Given the description of an element on the screen output the (x, y) to click on. 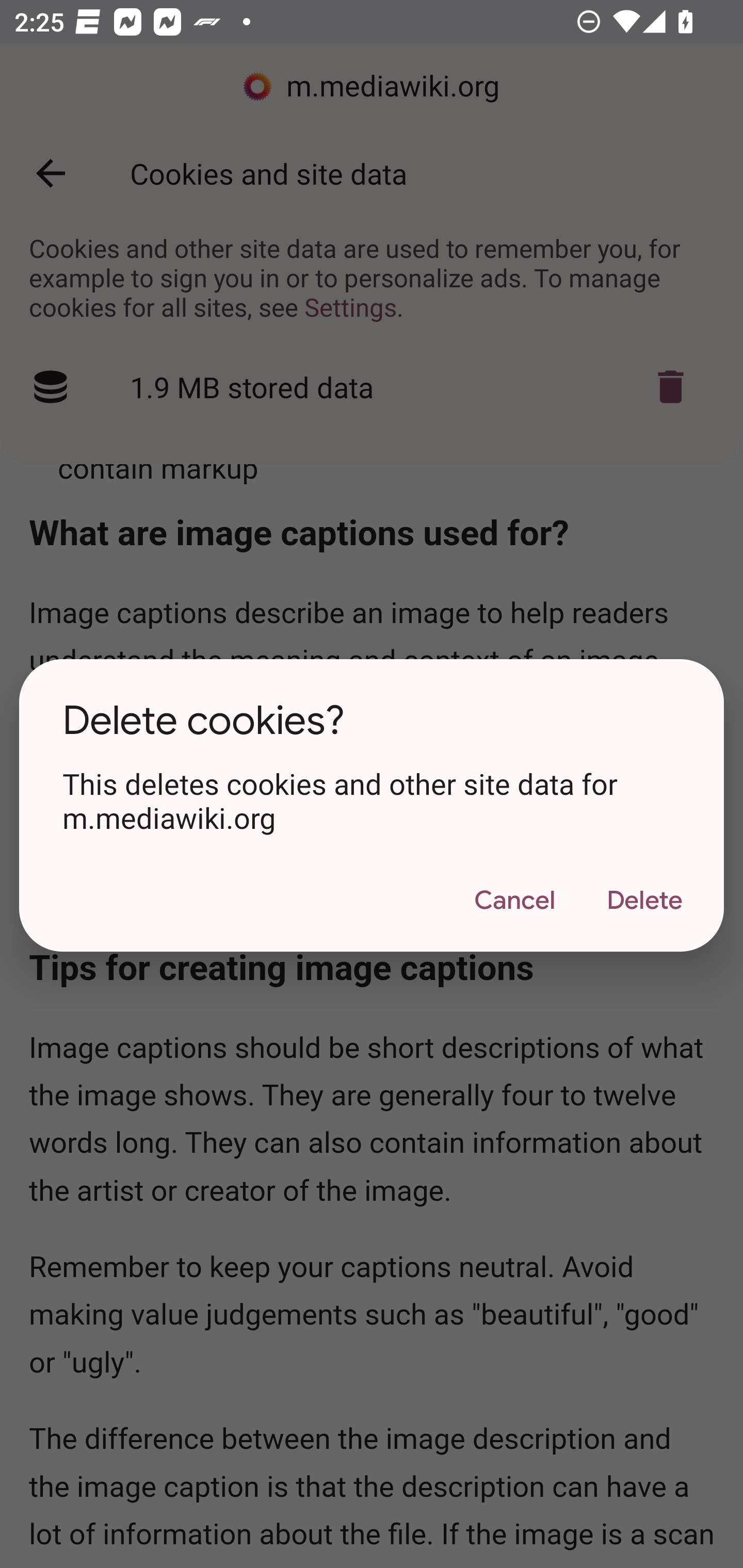
Cancel (514, 900)
Delete (644, 900)
